Given the description of an element on the screen output the (x, y) to click on. 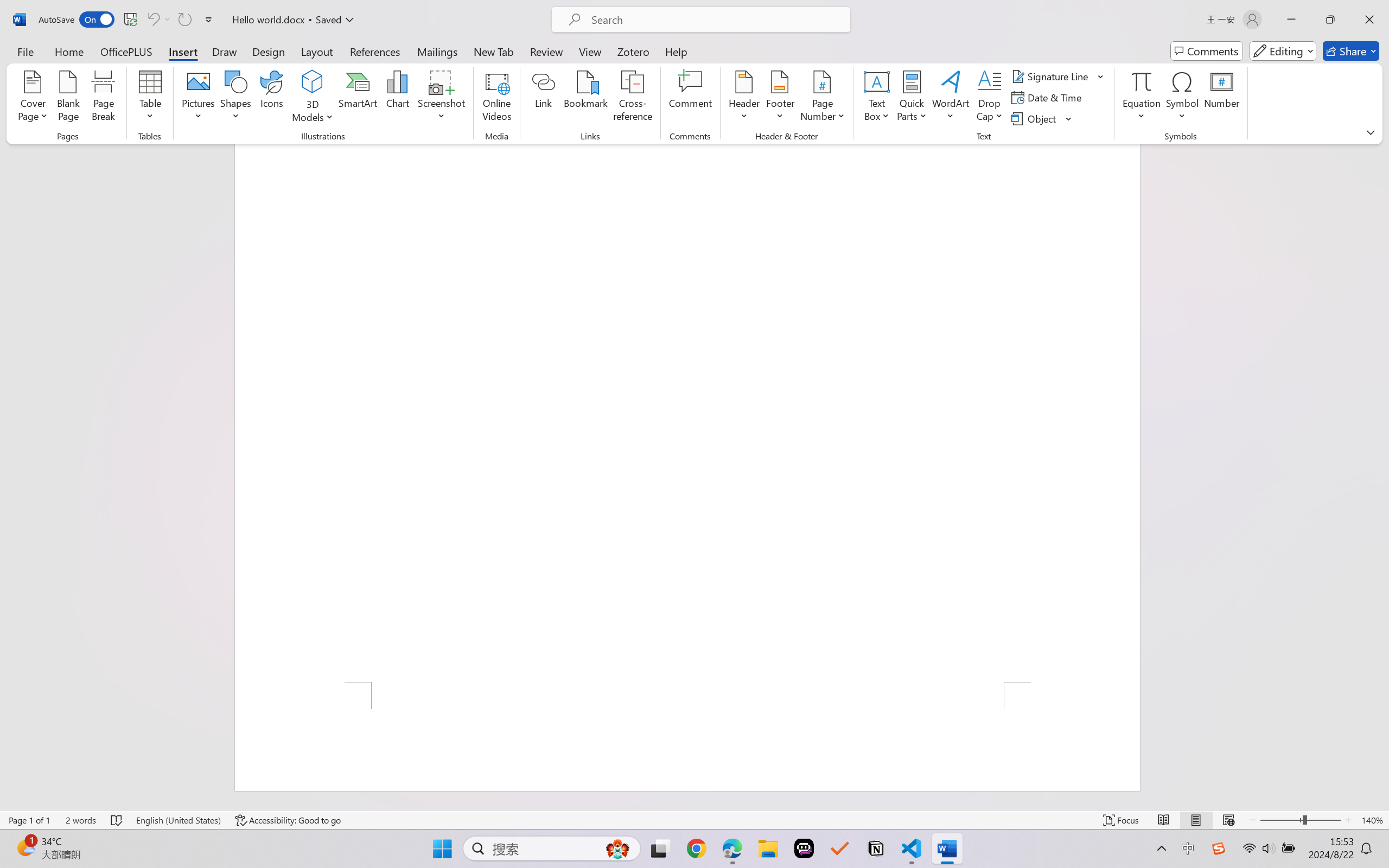
Design (268, 51)
Microsoft search (715, 19)
Help (675, 51)
Zoom 140% (1372, 819)
Home (69, 51)
Class: Image (1218, 847)
Save (130, 19)
File Tab (24, 51)
Zotero (632, 51)
